Given the description of an element on the screen output the (x, y) to click on. 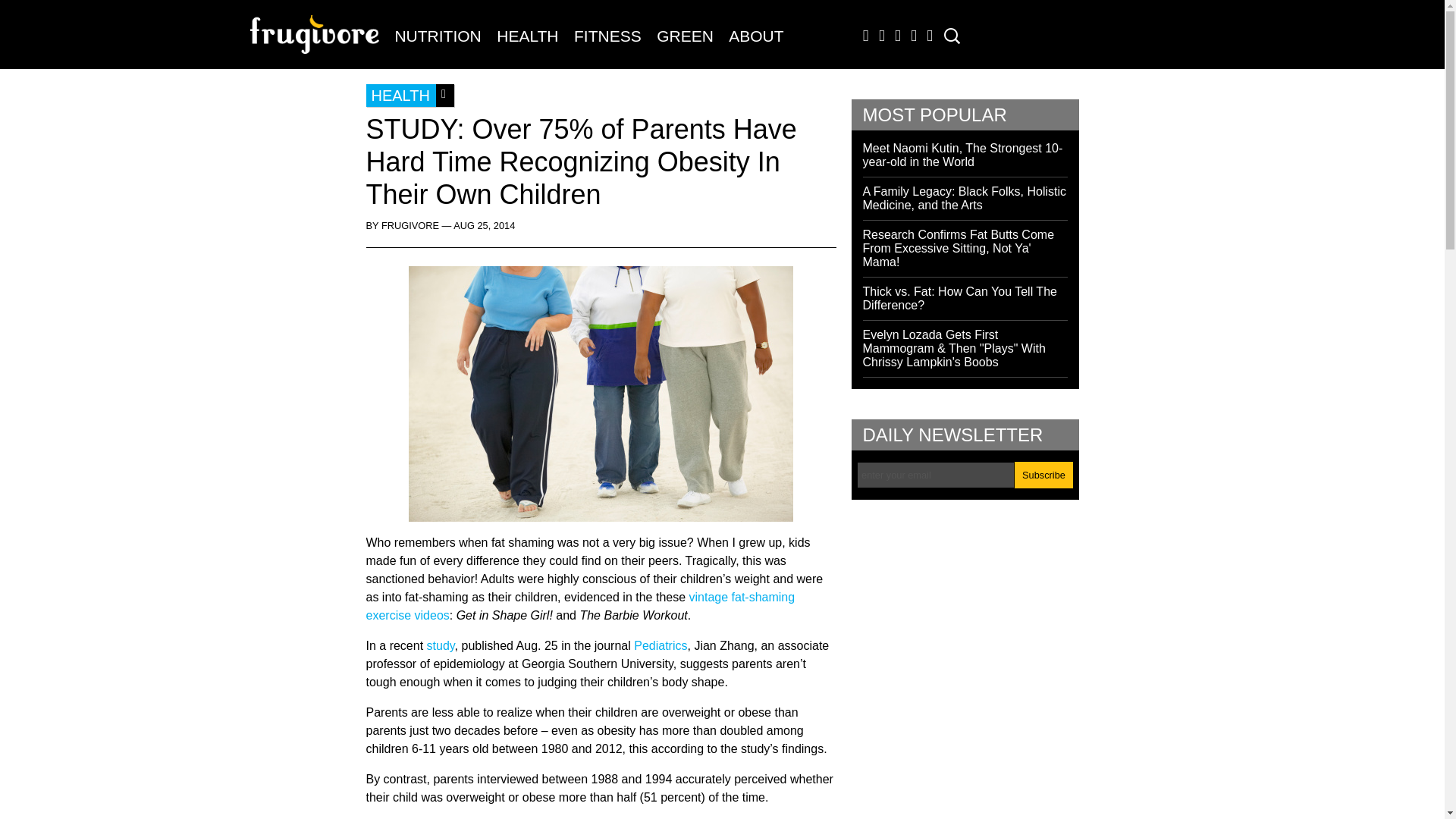
study (440, 645)
FITNESS (607, 36)
NUTRITION (437, 36)
Subscribe (1043, 474)
ABOUT (755, 36)
Pinterest (926, 38)
FRUGIVORE (317, 42)
Twitter (878, 38)
Frugivore (317, 42)
HEALTH (527, 36)
GREEN (684, 36)
Search (23, 13)
Facebook (862, 38)
enter your email (935, 474)
